Given the description of an element on the screen output the (x, y) to click on. 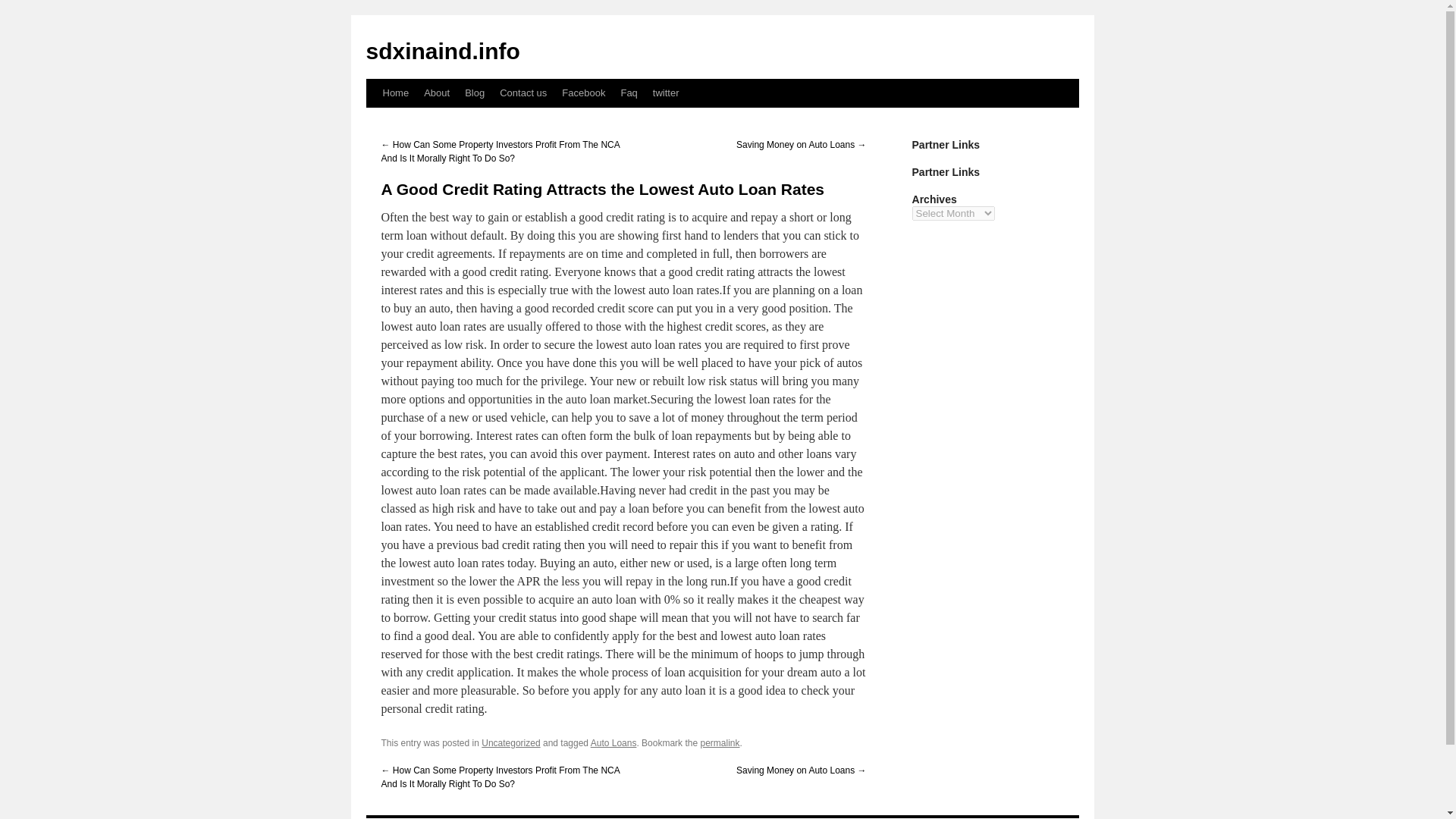
Auto Loans (614, 742)
Home (395, 92)
twitter (666, 92)
Facebook (583, 92)
Uncategorized (510, 742)
Facebook (583, 92)
Faq (628, 92)
twitter (666, 92)
permalink (719, 742)
About (436, 92)
Blog (474, 92)
Contact us (523, 92)
Faq (628, 92)
Home (395, 92)
